Given the description of an element on the screen output the (x, y) to click on. 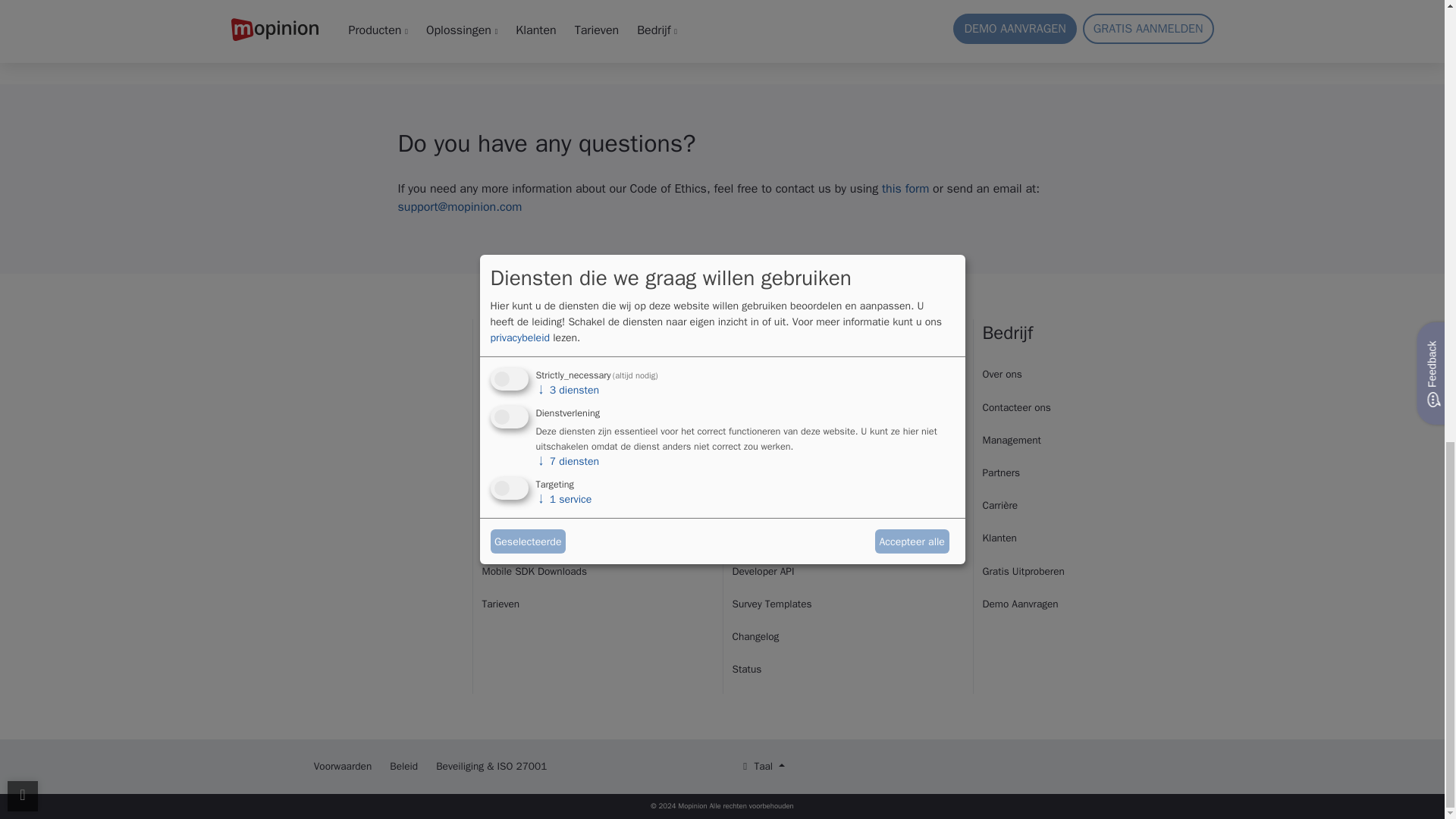
Customer Stories (762, 407)
Mopinion voor Email (527, 440)
Blog (742, 373)
Knowledge Base (769, 537)
Developer API (763, 571)
Whitepapers (760, 440)
Changelog (755, 635)
Technologie (508, 537)
Survey Templates (772, 603)
Status (746, 668)
Mopinion voor Apps (525, 407)
Mopinion voor Websites (535, 373)
Tarieven (500, 603)
Webinars (750, 504)
Inzicht en Actie (515, 472)
